Given the description of an element on the screen output the (x, y) to click on. 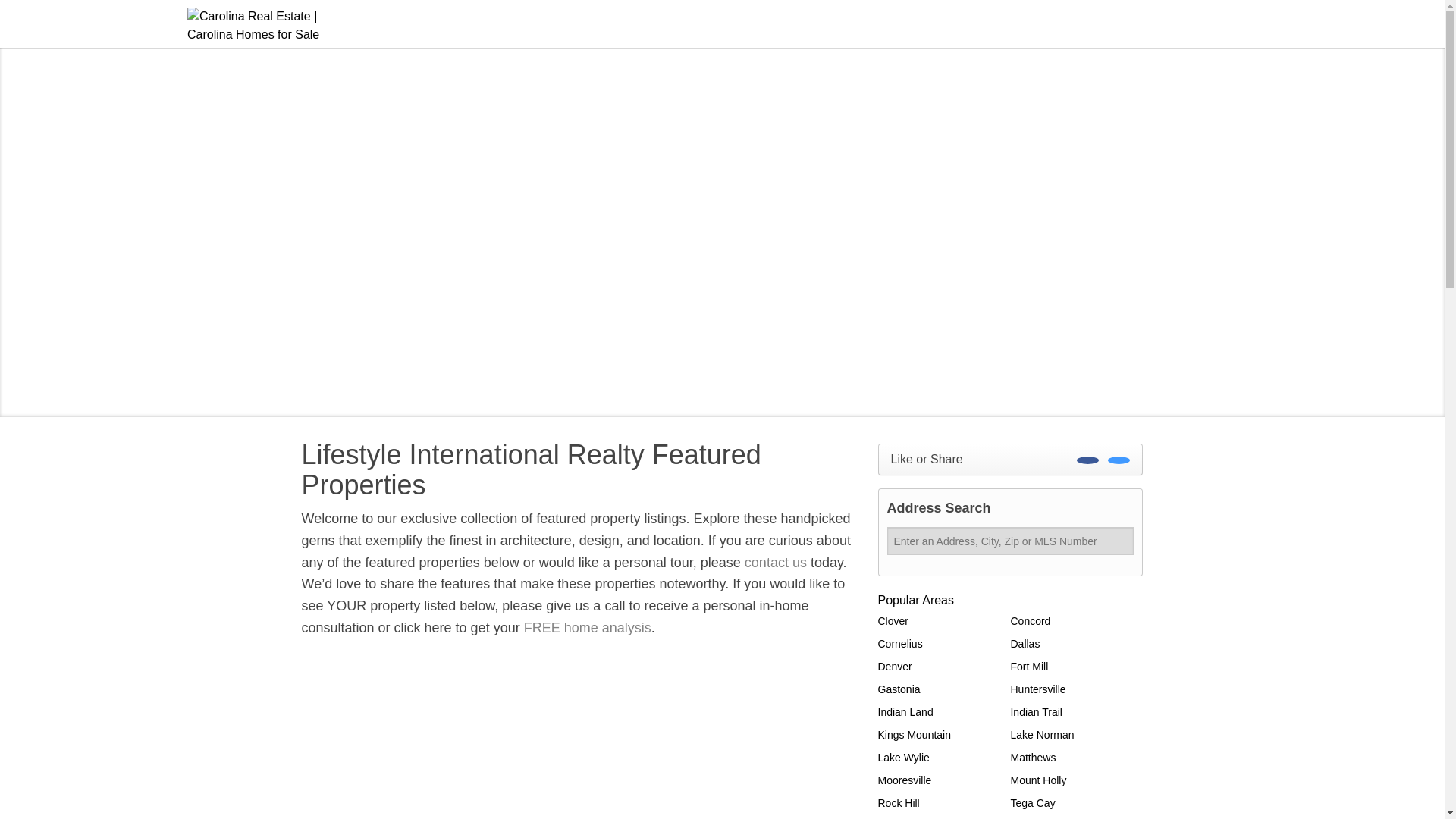
FREE home analysis (587, 627)
Concord Homes for Sale (1029, 621)
Clover (892, 621)
Dallas Homes for Sale (1024, 644)
Fort Mill (1029, 666)
Fort Mill Homes for Sale (1029, 666)
Denver (894, 666)
Home Valuation (587, 627)
Clover Homes for Sale (892, 621)
Lake Wylie (903, 757)
